Given the description of an element on the screen output the (x, y) to click on. 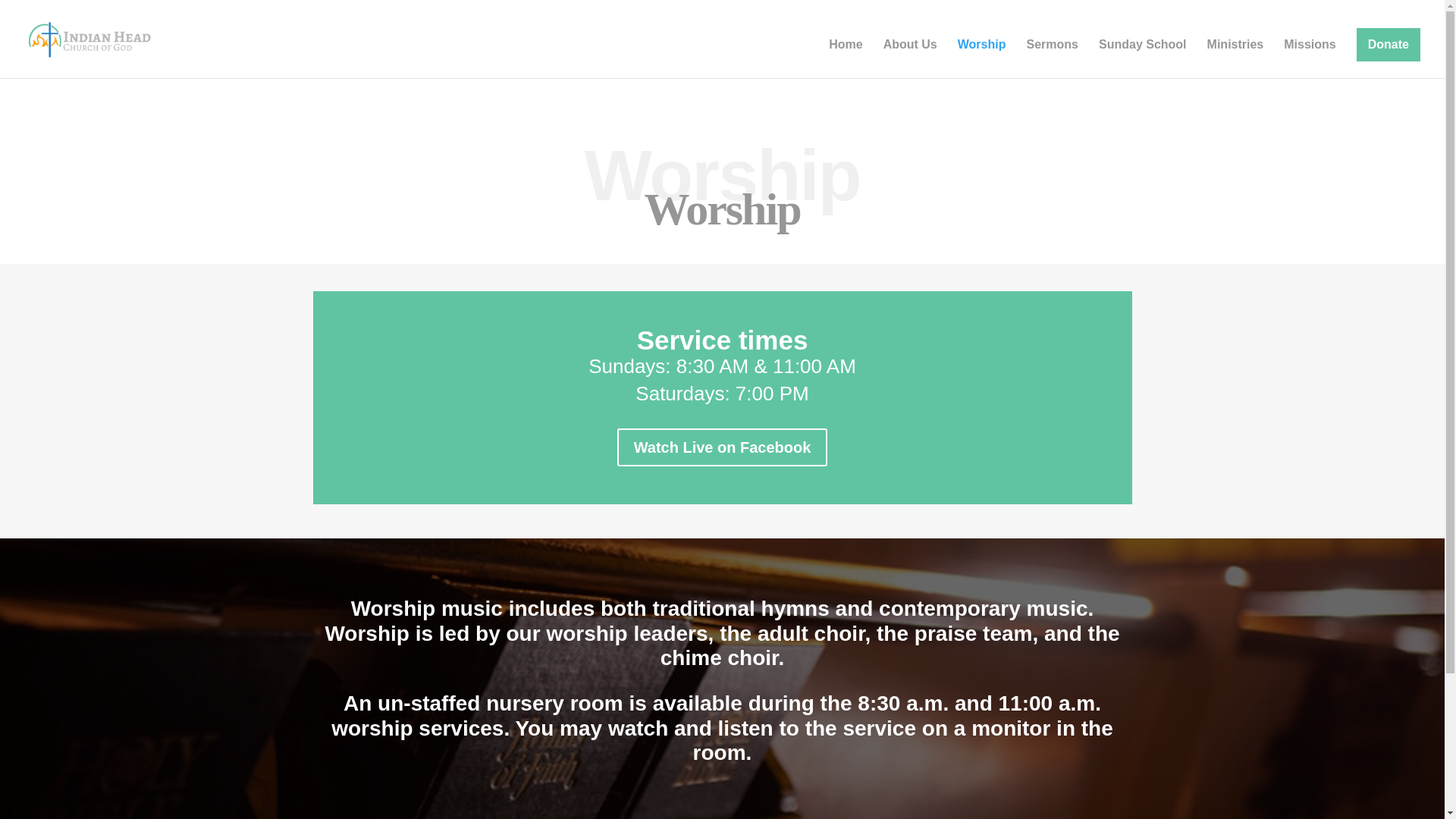
Home (844, 58)
Sunday School (1142, 58)
Worship (982, 58)
Donate (1388, 44)
Watch Live on Facebook (722, 447)
Missions (1309, 58)
Sermons (1052, 58)
Ministries (1235, 58)
About Us (910, 58)
